Given the description of an element on the screen output the (x, y) to click on. 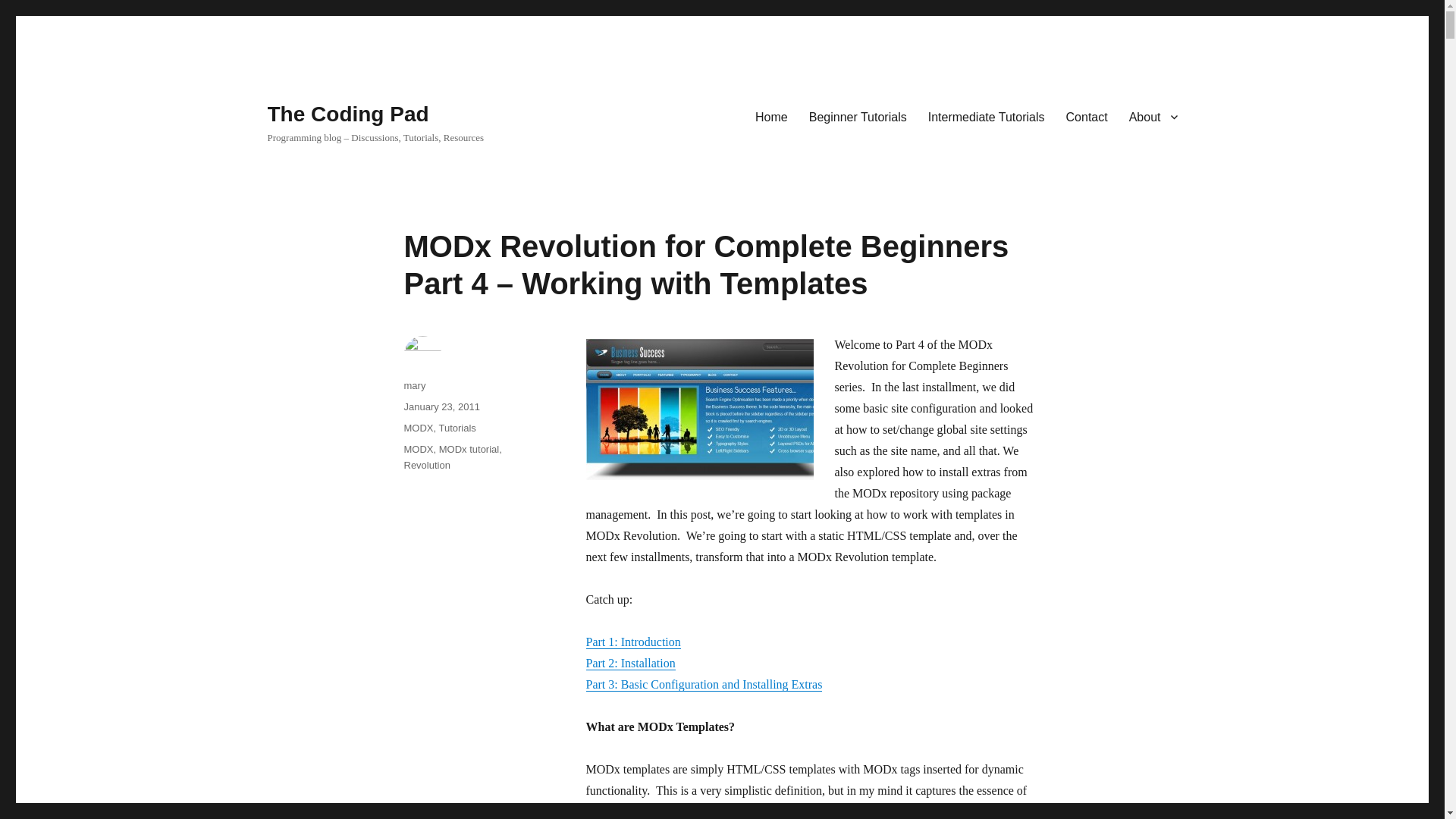
Contact (1086, 116)
Part 3: Basic Configuration and Installing Extras (703, 684)
Part 2: Installation (630, 662)
Introduction for MODx Revolution (632, 641)
Home (770, 116)
MODx Revolution Basic Configuration and Installing Extras (703, 684)
Intermediate Tutorials (986, 116)
Installing MODx Revolution (630, 662)
Business Success (698, 409)
About (1153, 116)
